Given the description of an element on the screen output the (x, y) to click on. 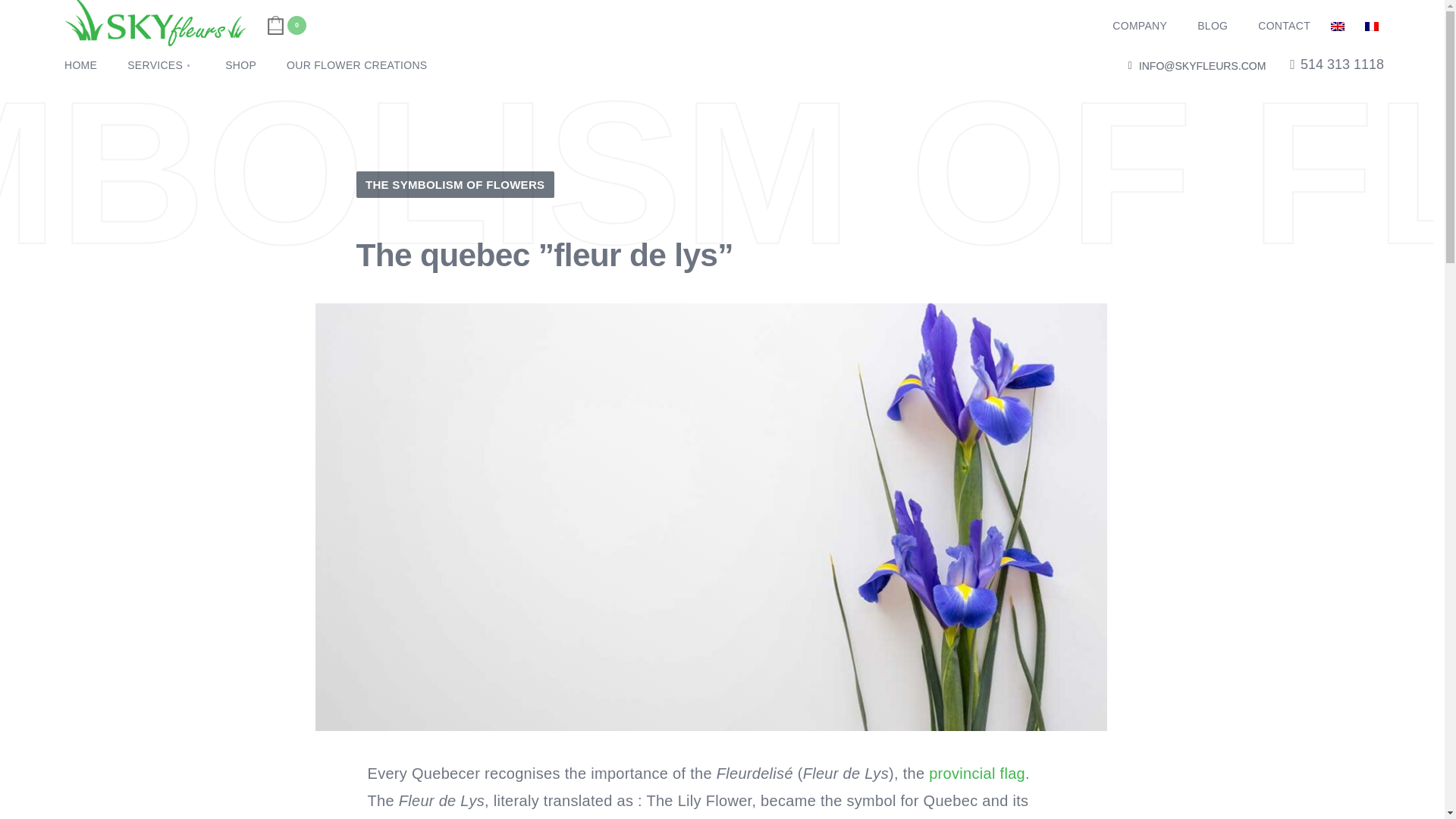
BLOG (1211, 25)
514 313 1118 (1337, 66)
COMPANY (1139, 25)
0 (285, 25)
THE SYMBOLISM OF FLOWERS (455, 184)
CONTACT (1283, 25)
HOME (80, 64)
SERVICES (161, 64)
OUR FLOWER CREATIONS (356, 64)
SHOP (240, 64)
